Given the description of an element on the screen output the (x, y) to click on. 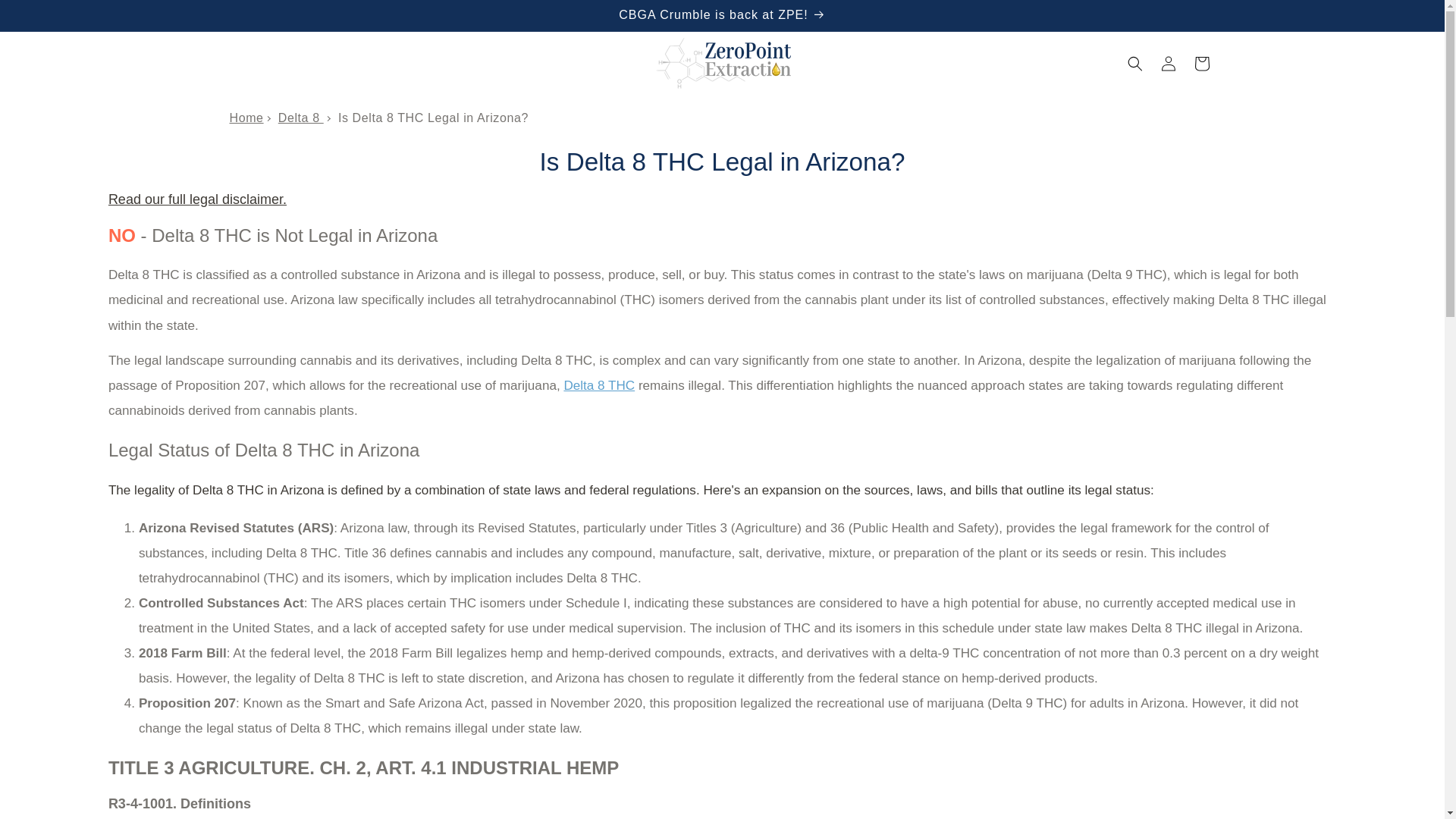
CBGA Crumble is back at ZPE! (721, 15)
Zero Point Extraction legal disclaimer (196, 199)
Skip to content (45, 16)
1 gram Delta 8 vape (598, 385)
